Given the description of an element on the screen output the (x, y) to click on. 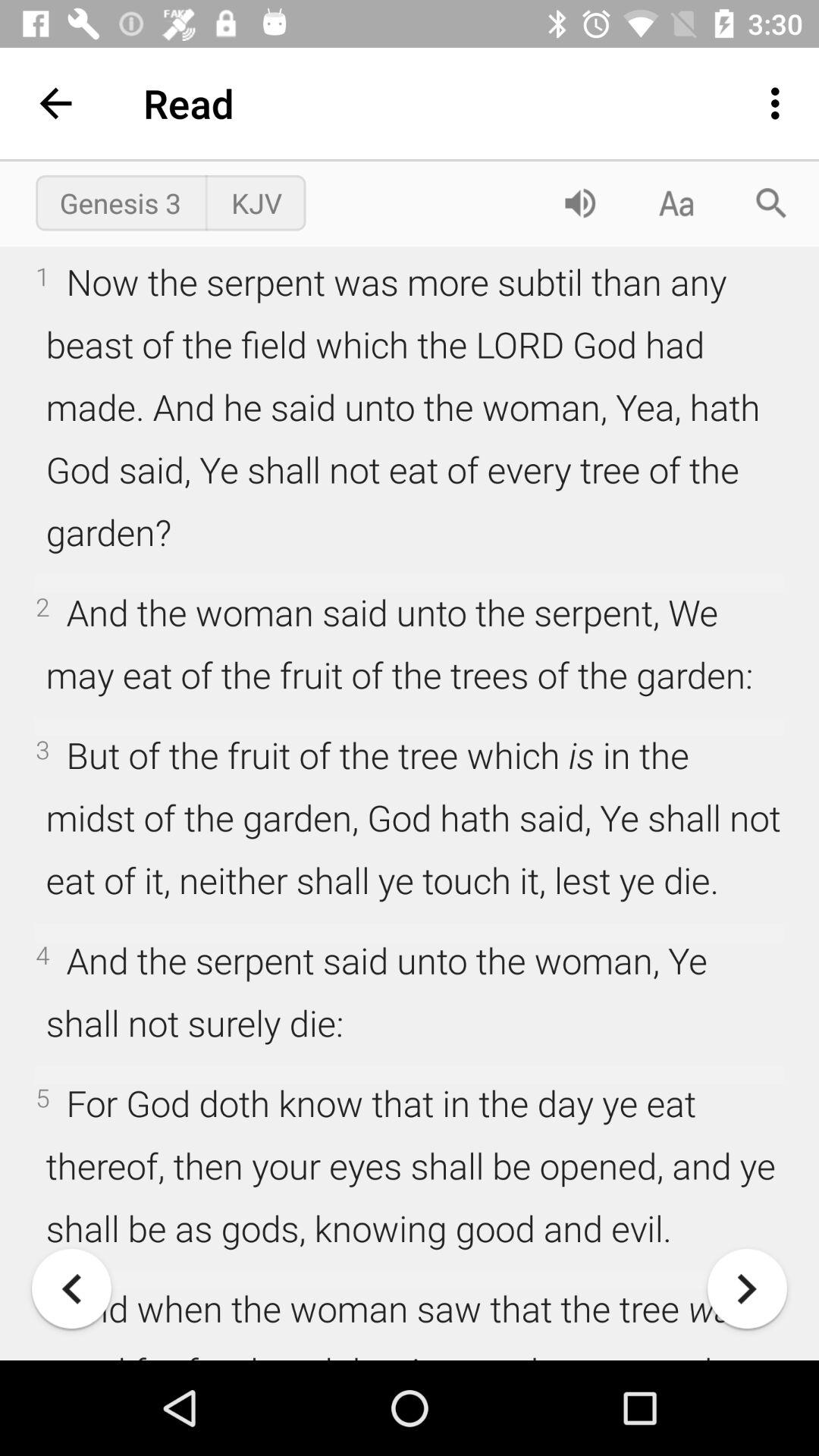
search (771, 202)
